Given the description of an element on the screen output the (x, y) to click on. 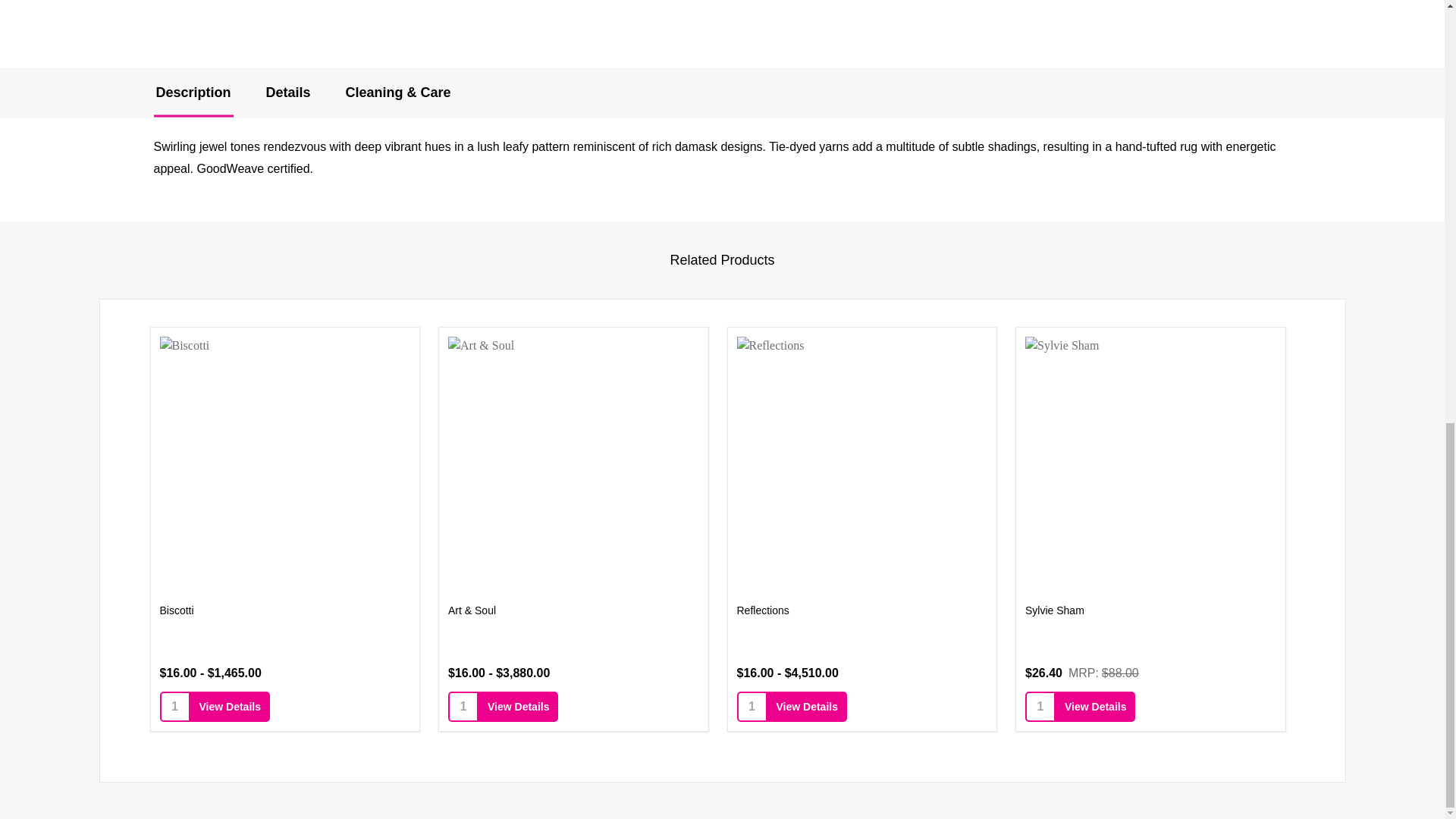
1 (463, 706)
1 (751, 706)
1 (173, 706)
1 (1040, 706)
